Given the description of an element on the screen output the (x, y) to click on. 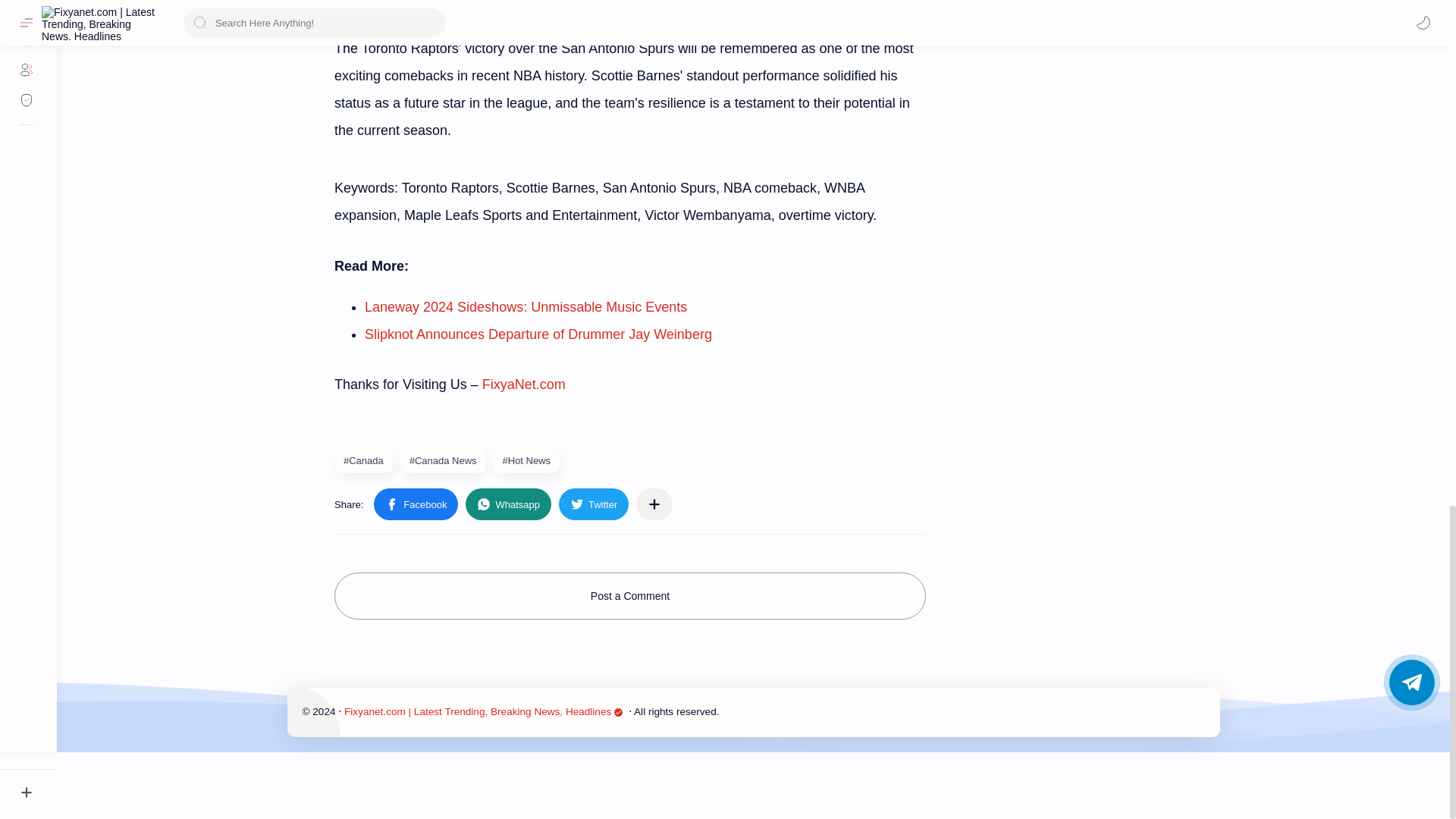
FixyaNet.com (523, 384)
Laneway 2024 Sideshows: Unmissable Music Events (526, 306)
Slipknot Announces Departure of Drummer Jay Weinberg (538, 334)
